Given the description of an element on the screen output the (x, y) to click on. 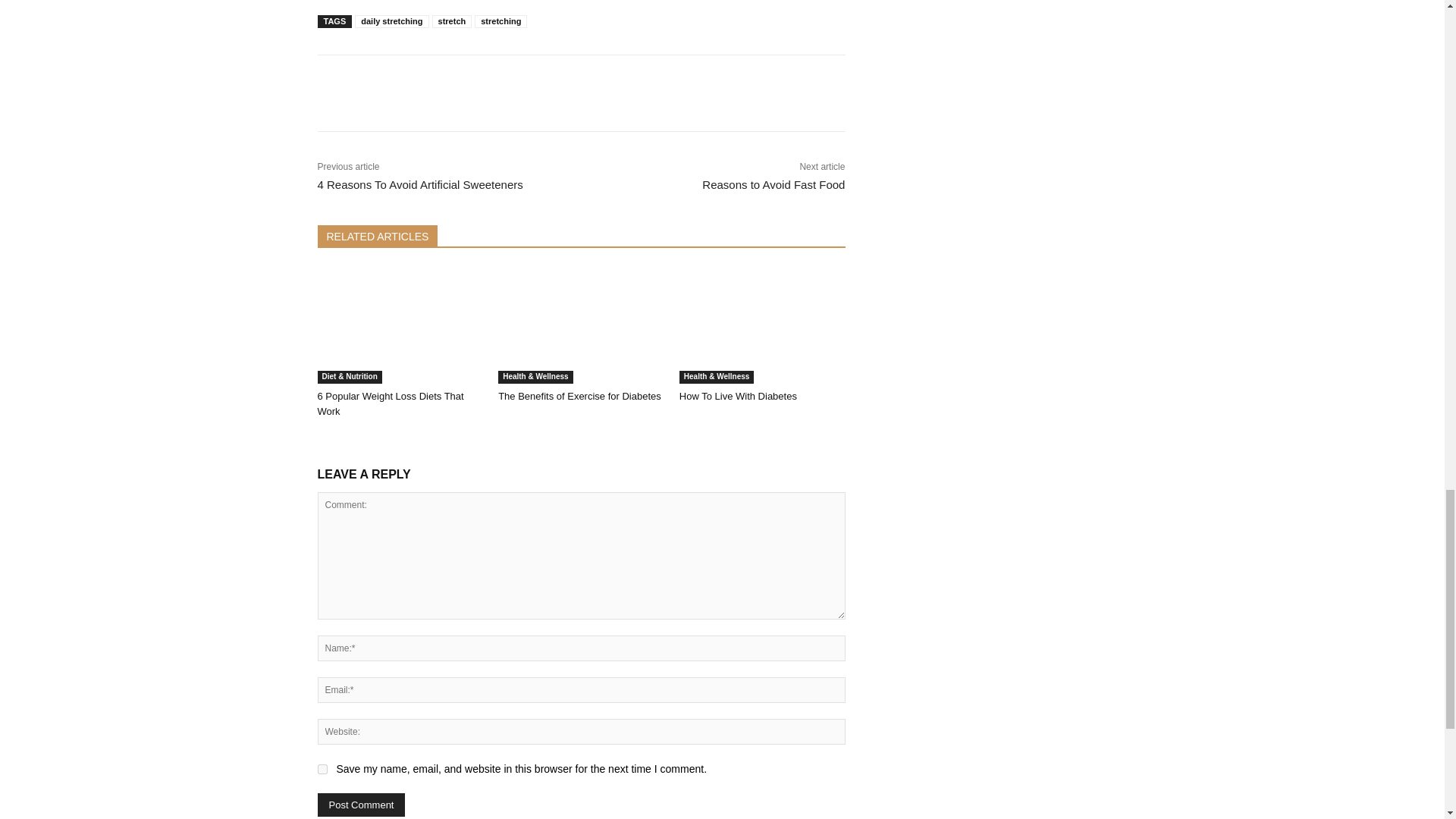
yes (321, 768)
stretch (451, 21)
daily stretching (391, 21)
Post Comment (360, 804)
